Given the description of an element on the screen output the (x, y) to click on. 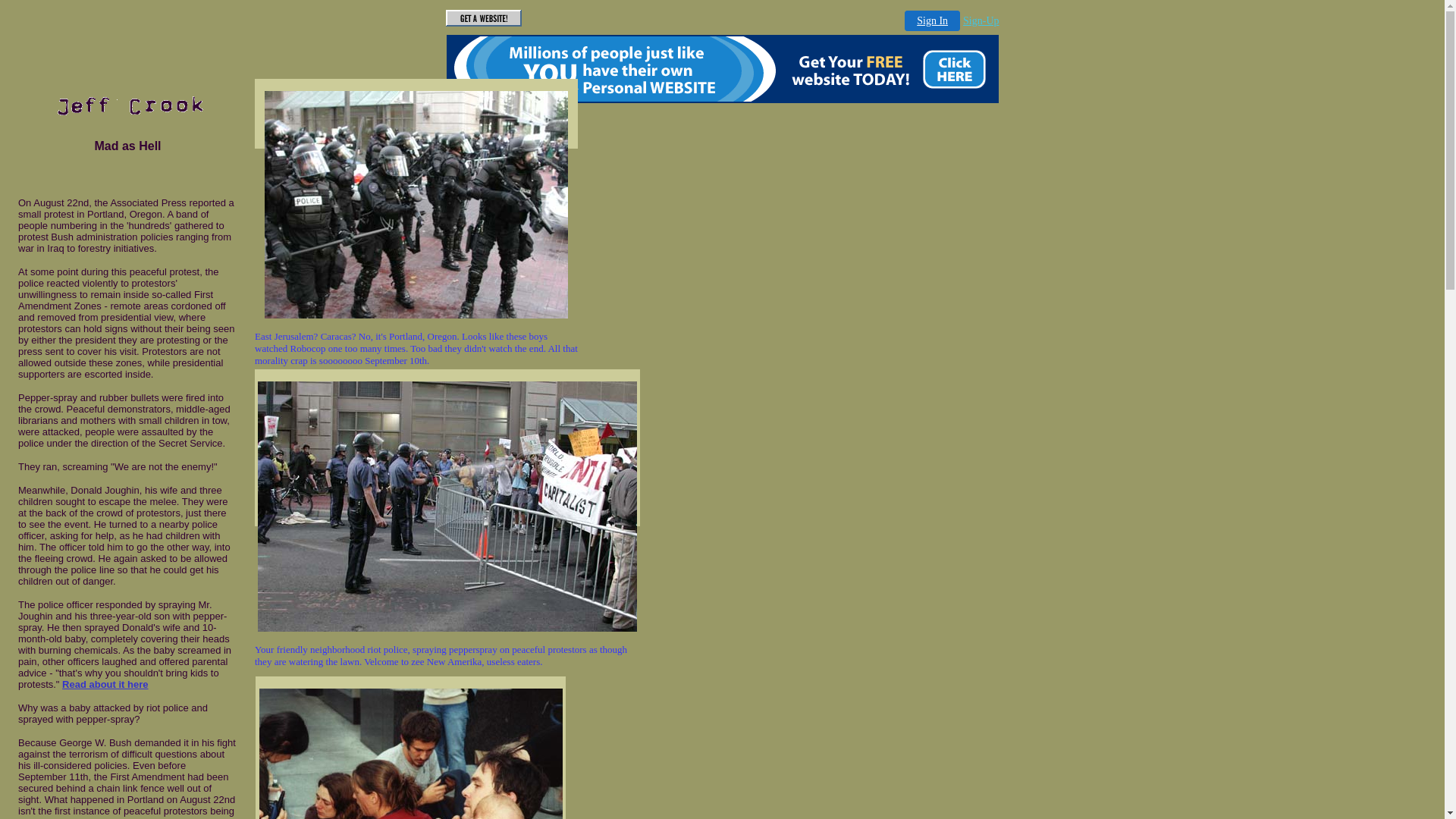
Read about it here Element type: text (104, 684)
Sign In Element type: text (932, 20)
Sign-Up Element type: text (980, 20)
